Given the description of an element on the screen output the (x, y) to click on. 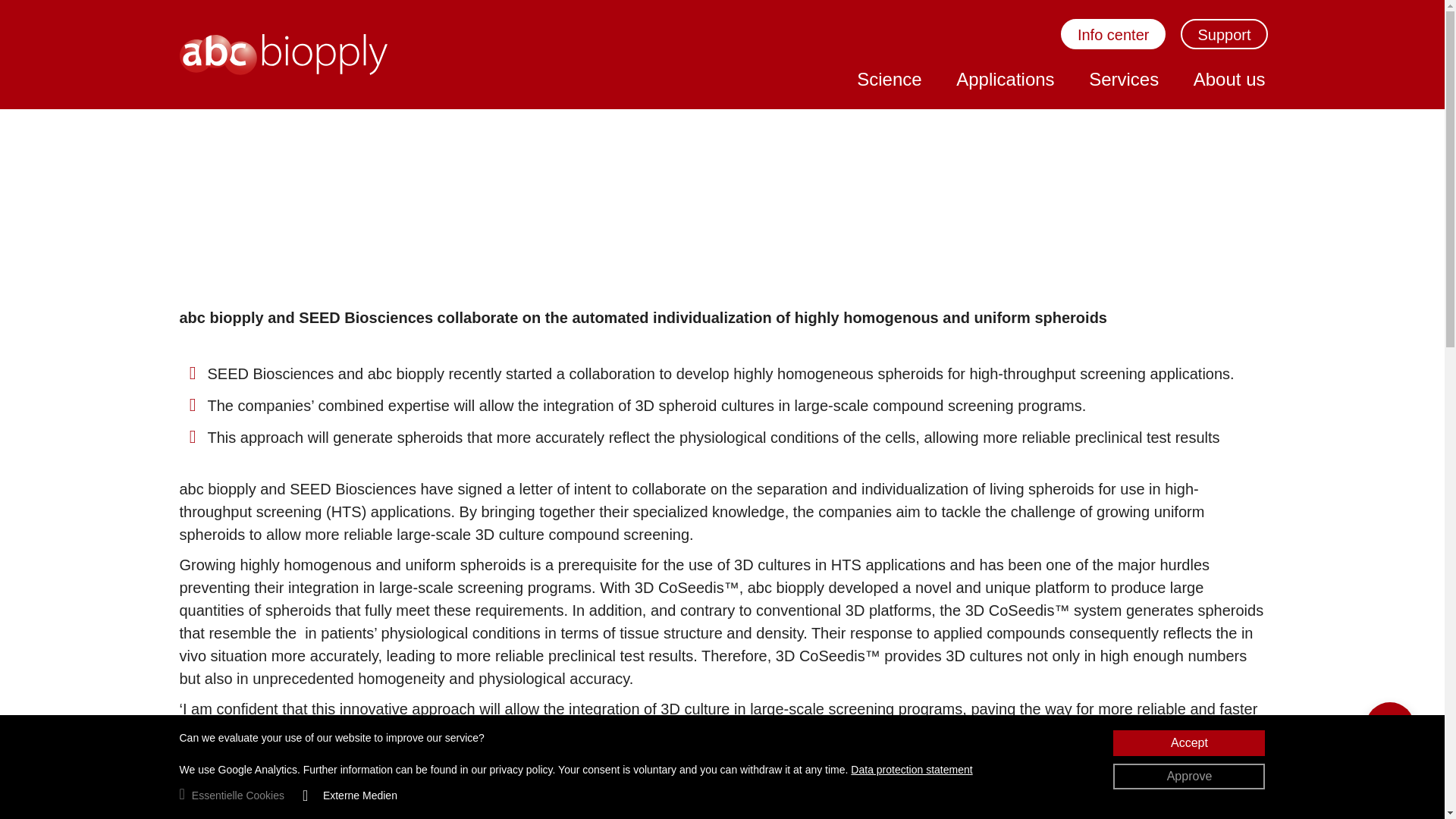
Applications (1005, 78)
Info center (1113, 34)
Support (1223, 34)
Science (889, 78)
